Given the description of an element on the screen output the (x, y) to click on. 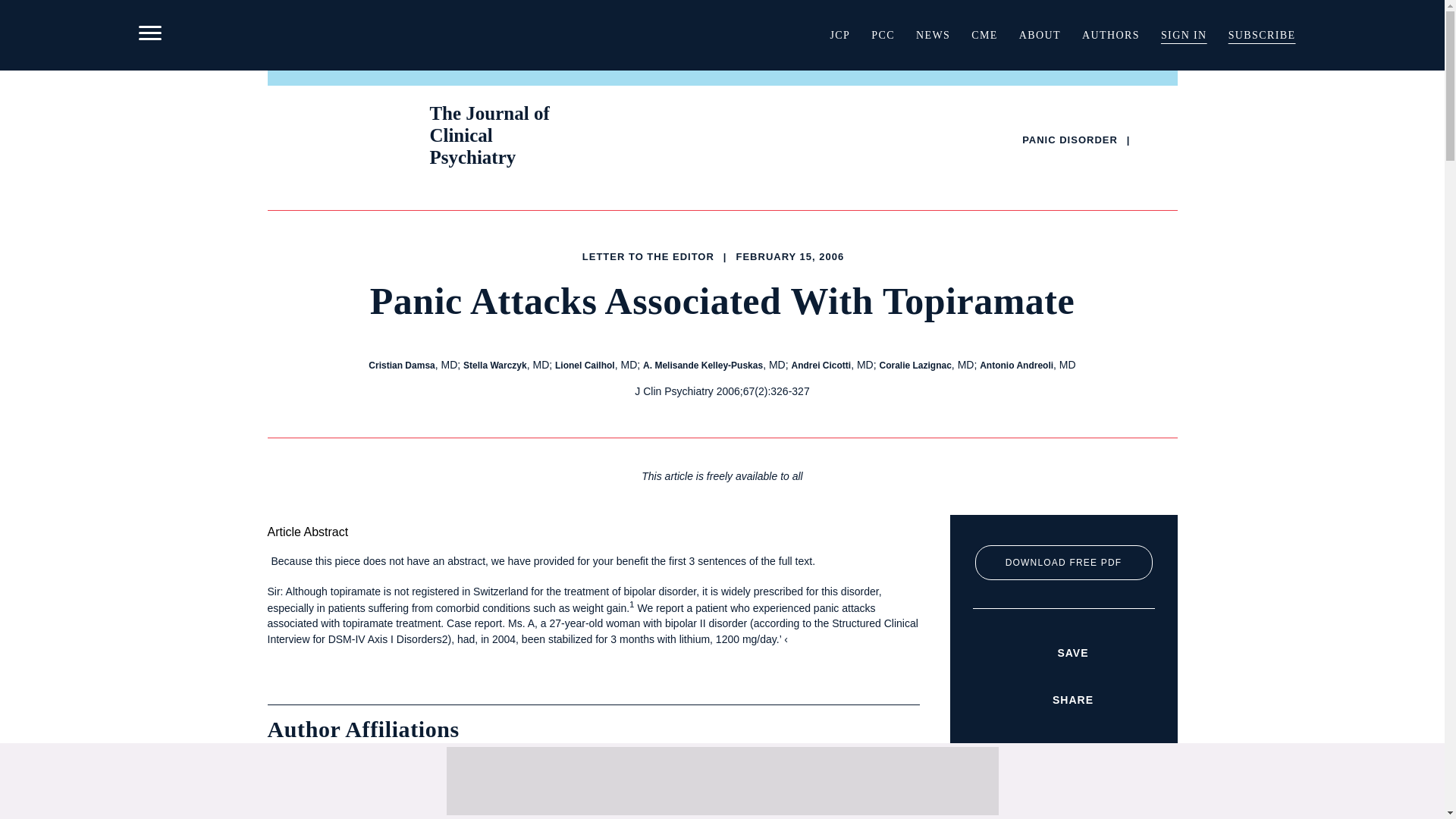
SIGN IN (1183, 35)
CME (984, 35)
PCC (882, 35)
JCP (839, 35)
Search (959, 128)
SUBSCRIBE (1261, 35)
AUTHORS (1110, 35)
ABOUT (1040, 35)
NEWS (932, 35)
